Given the description of an element on the screen output the (x, y) to click on. 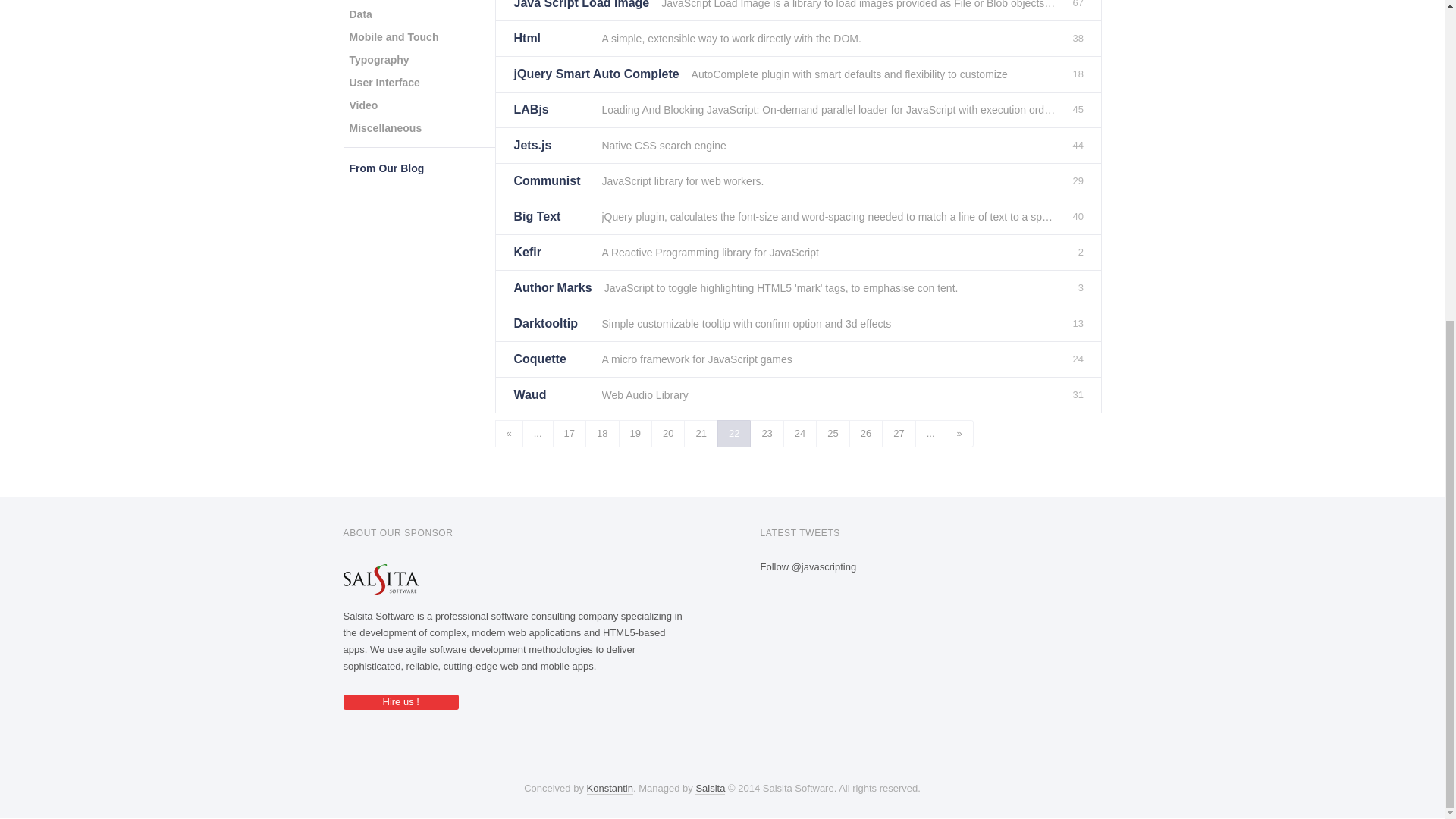
Data (359, 14)
Java Script Load Image (581, 10)
Typography (378, 59)
Mobile and Touch (393, 36)
Video (363, 105)
User Interface (383, 82)
Miscellaneous (385, 128)
